Given the description of an element on the screen output the (x, y) to click on. 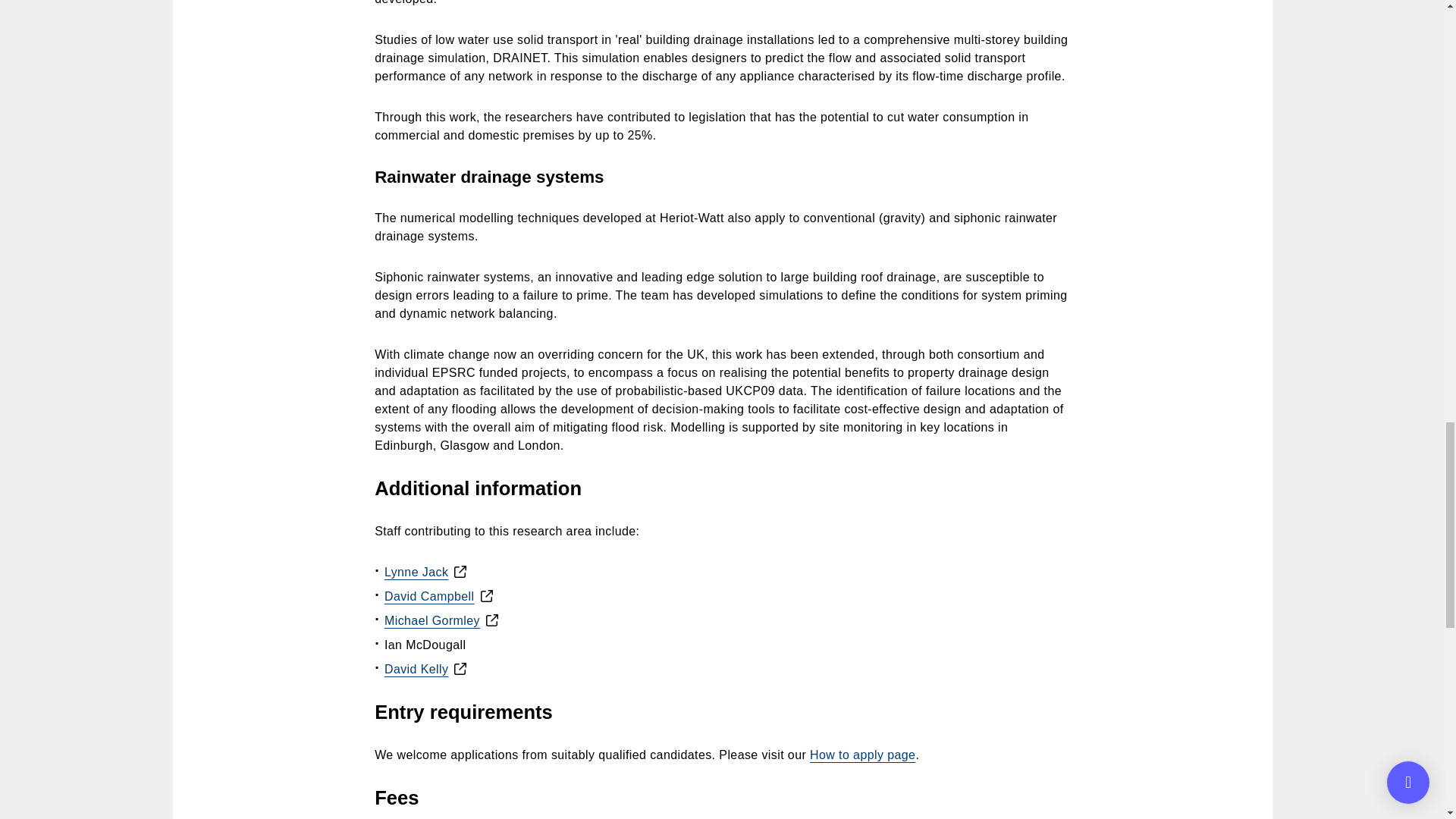
David Campbell staff profile (429, 595)
Lynne Jack staff profile (416, 571)
David Kelly (416, 668)
